Given the description of an element on the screen output the (x, y) to click on. 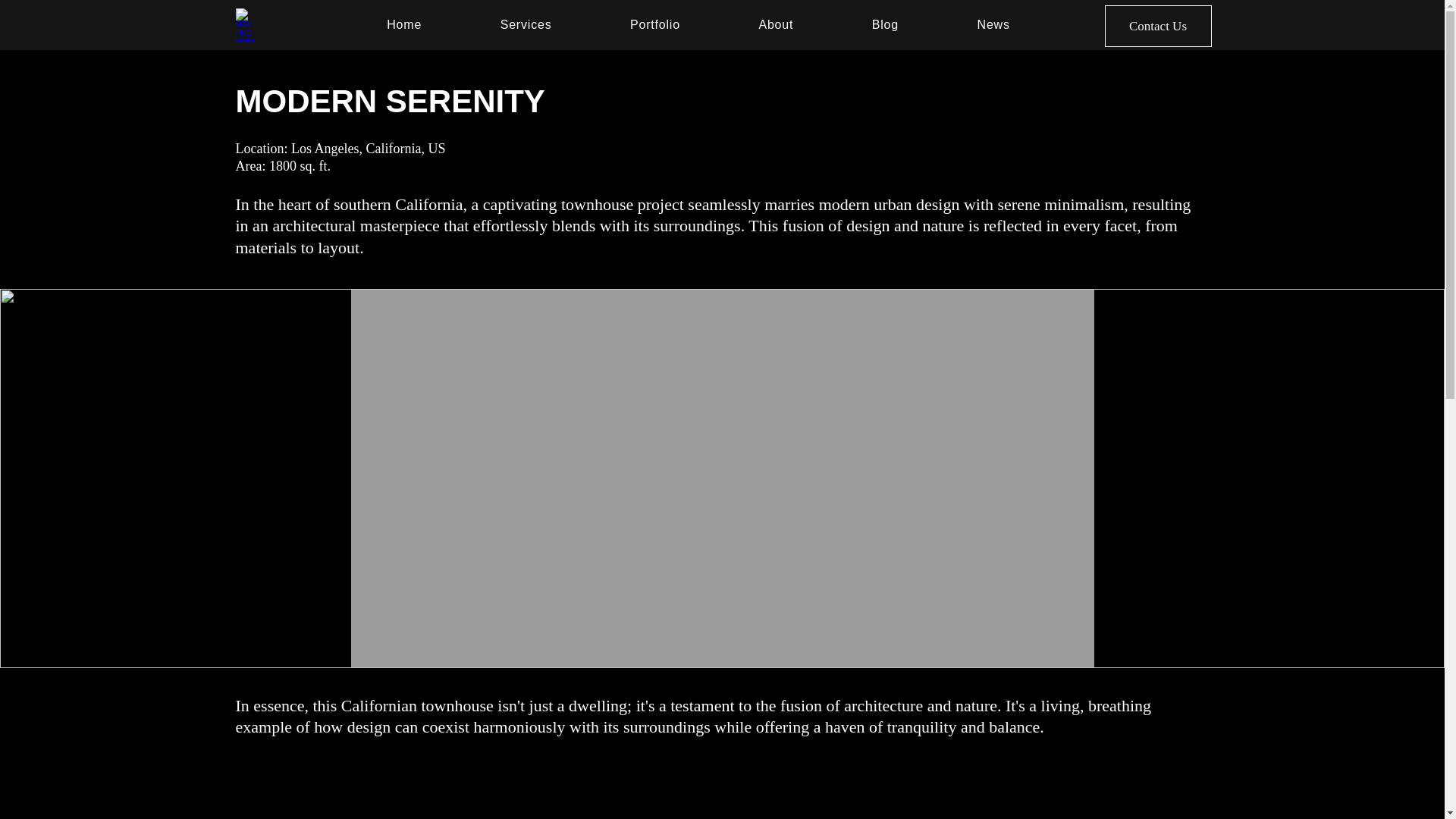
Blog (884, 24)
Home (403, 24)
Contact Us (1157, 25)
News (993, 24)
Services (526, 24)
Portfolio (655, 24)
About (775, 24)
